Given the description of an element on the screen output the (x, y) to click on. 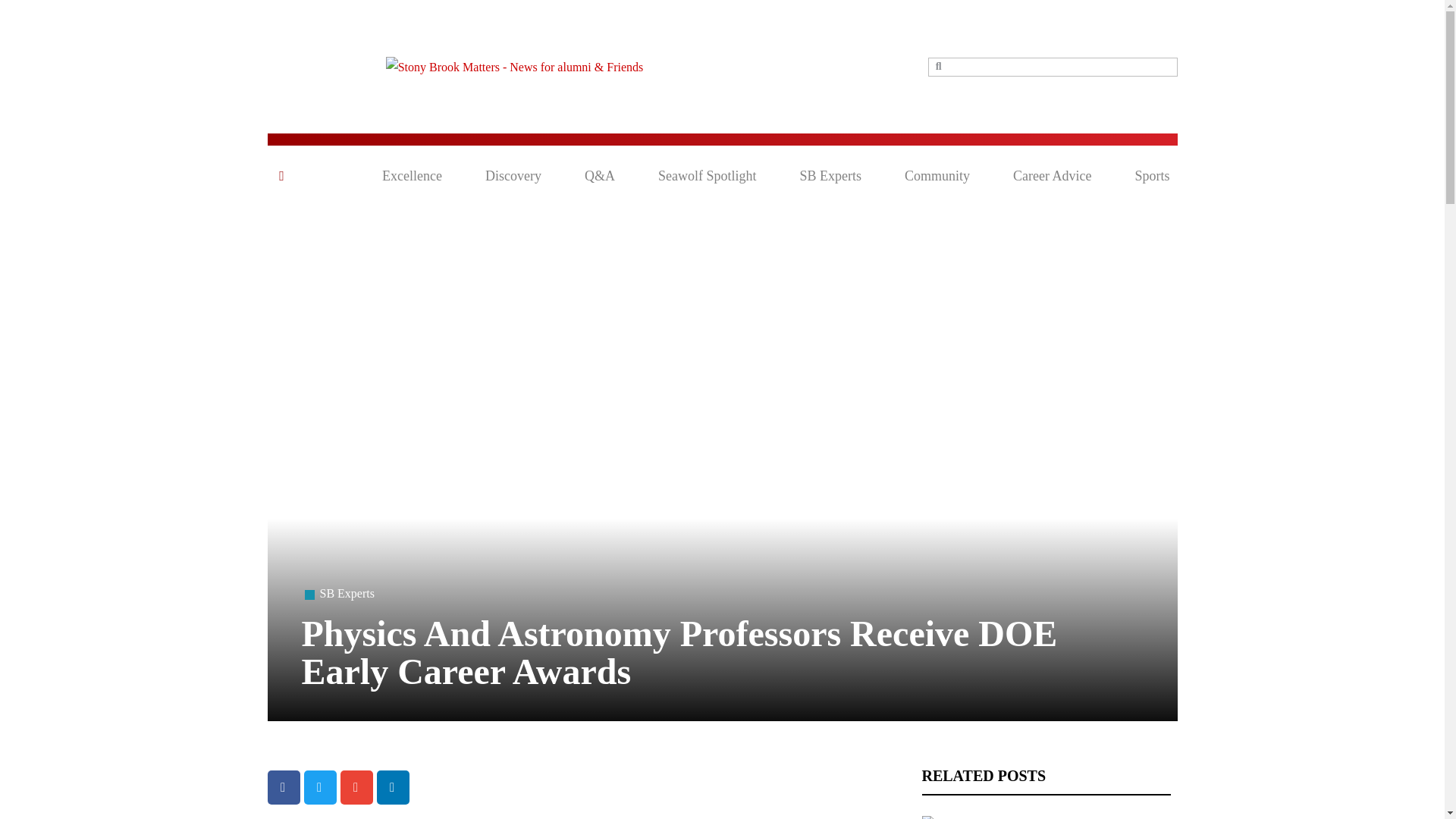
Career Advice (1051, 175)
Sports (1151, 175)
SB Experts (347, 593)
Excellence (411, 175)
Discovery (512, 175)
Community (936, 175)
SB Experts (830, 175)
Seawolf Spotlight (707, 175)
